Given the description of an element on the screen output the (x, y) to click on. 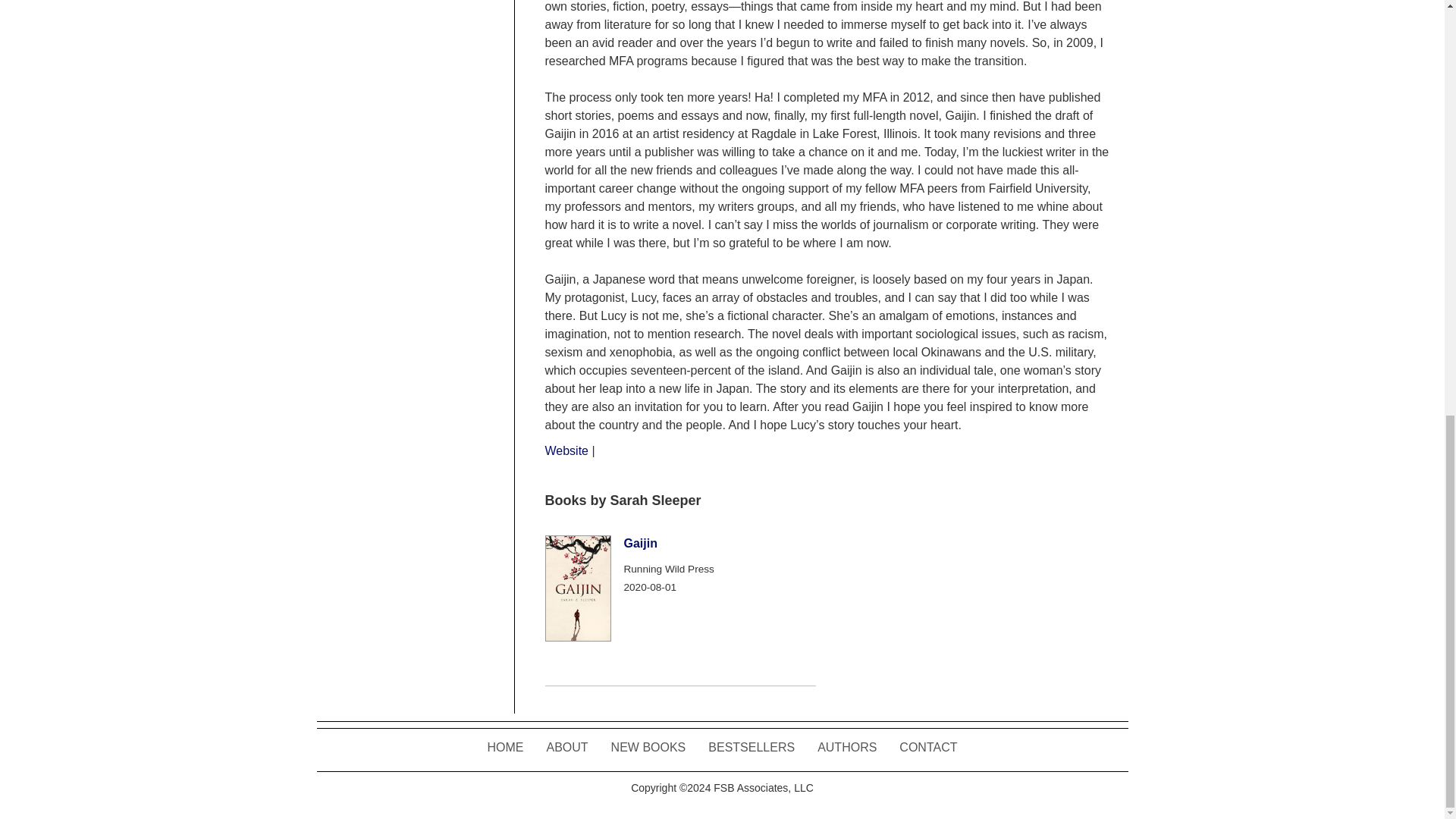
Gaijin (639, 543)
Website (566, 450)
